Given the description of an element on the screen output the (x, y) to click on. 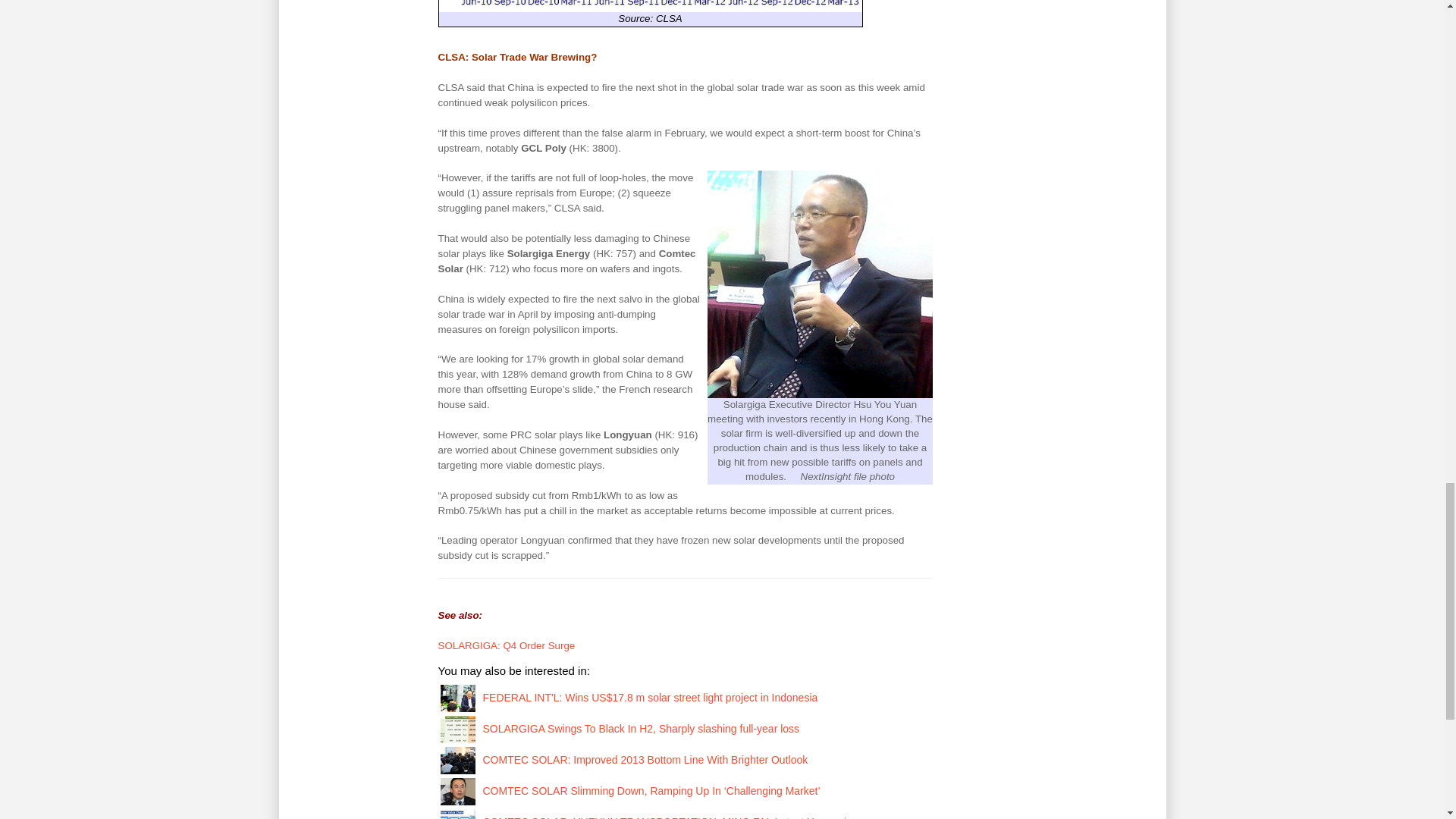
SOLARGIGA: Q4 Order Surge (506, 645)
